Given the description of an element on the screen output the (x, y) to click on. 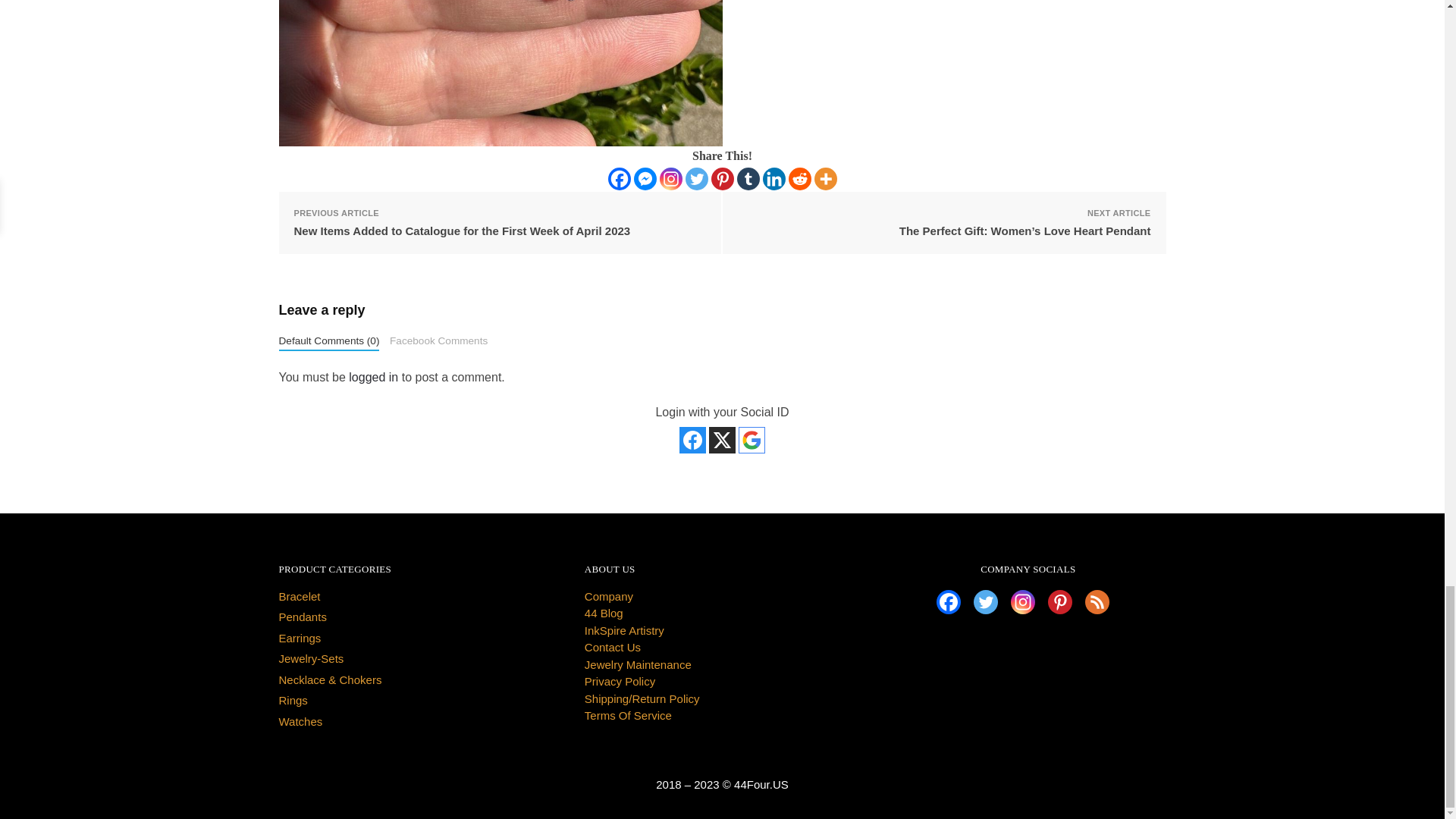
Login with Facebook (692, 439)
Bracelet (299, 595)
More (825, 178)
Facebook Messenger (644, 178)
Tumblr (748, 178)
Pendants (302, 616)
Instagram (670, 178)
Linkedin (774, 178)
logged in (373, 377)
Earrings (300, 637)
Login with X (722, 439)
Twitter (696, 178)
Facebook (619, 178)
Reddit (799, 178)
